Given the description of an element on the screen output the (x, y) to click on. 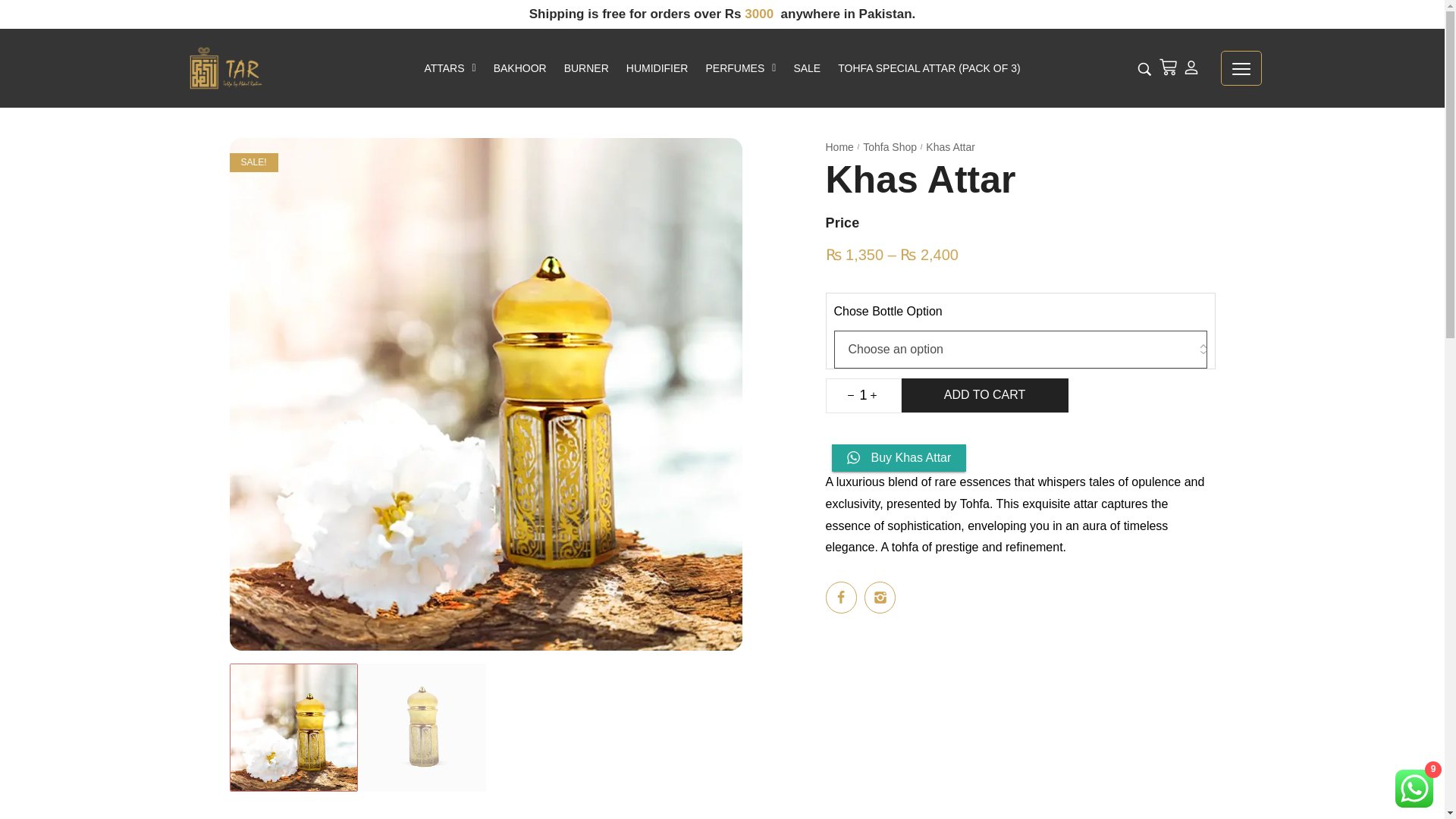
1 (863, 395)
Home (839, 147)
Tohfa Shop (890, 147)
